Given the description of an element on the screen output the (x, y) to click on. 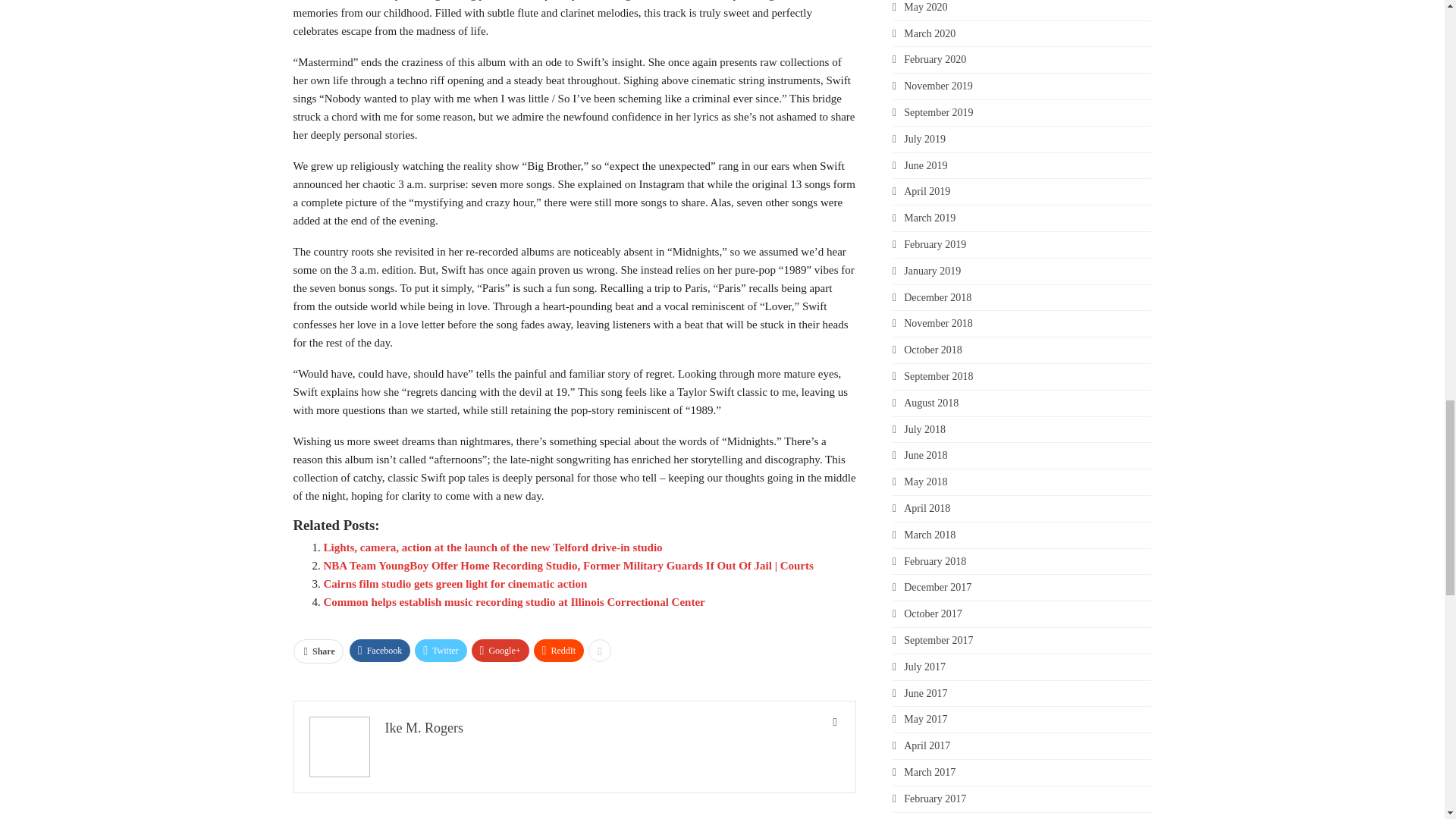
Twitter (439, 650)
ReddIt (559, 650)
Cairns film studio gets green light for cinematic action (454, 583)
Facebook (379, 650)
Ike M. Rogers (424, 727)
Cairns film studio gets green light for cinematic action (454, 583)
